Given the description of an element on the screen output the (x, y) to click on. 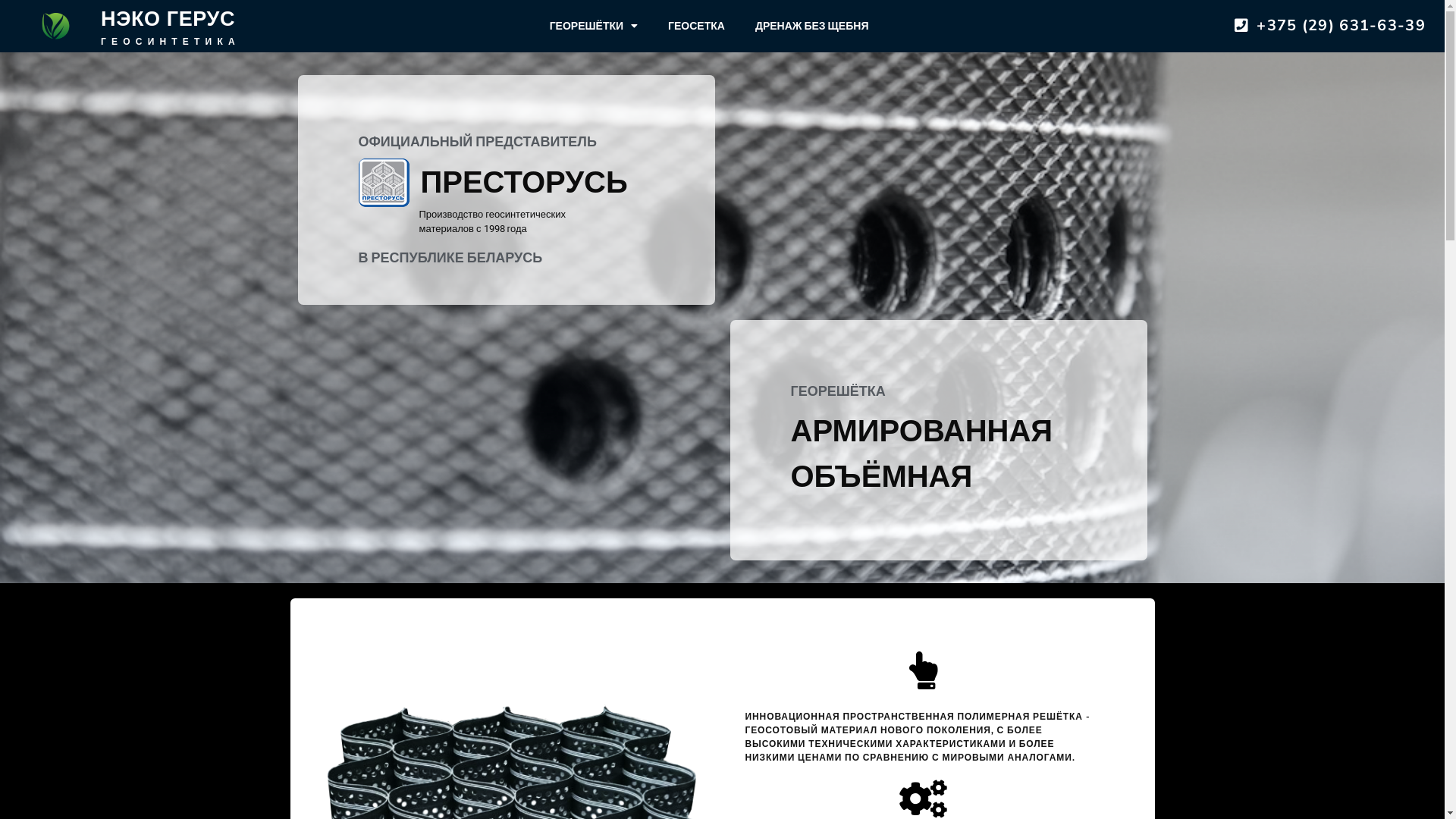
+375 (29) 631-63-39 Element type: text (1327, 25)
